Given the description of an element on the screen output the (x, y) to click on. 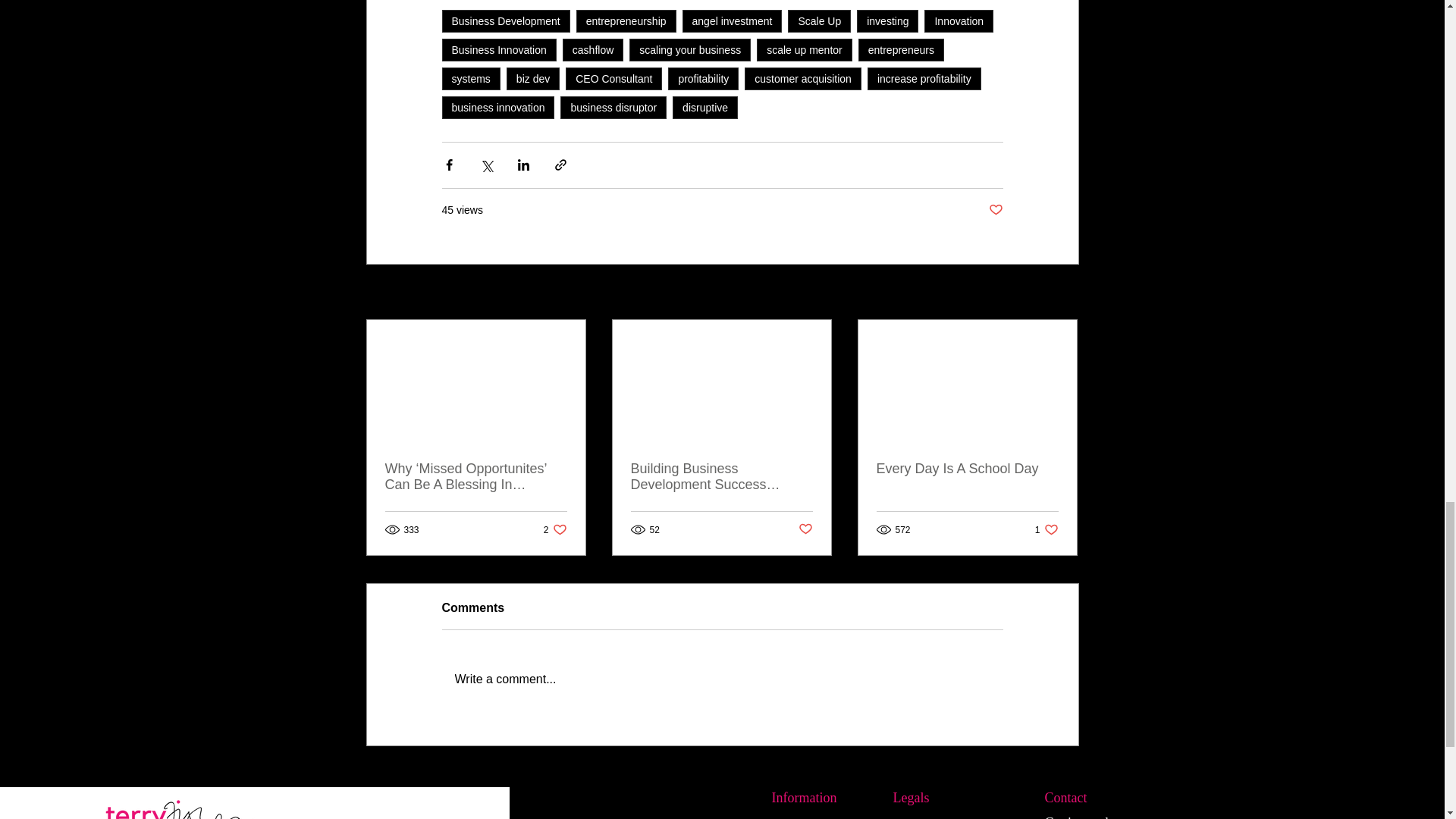
Scale Up (818, 20)
customer acquisition (802, 78)
business innovation (497, 107)
Innovation (958, 20)
systems (470, 78)
cashflow (592, 49)
scaling your business (689, 49)
scale up mentor (804, 49)
biz dev (532, 78)
Business Development (505, 20)
profitability (703, 78)
entrepreneurs (901, 49)
entrepreneurship (626, 20)
angel investment (732, 20)
Business Innovation (498, 49)
